Given the description of an element on the screen output the (x, y) to click on. 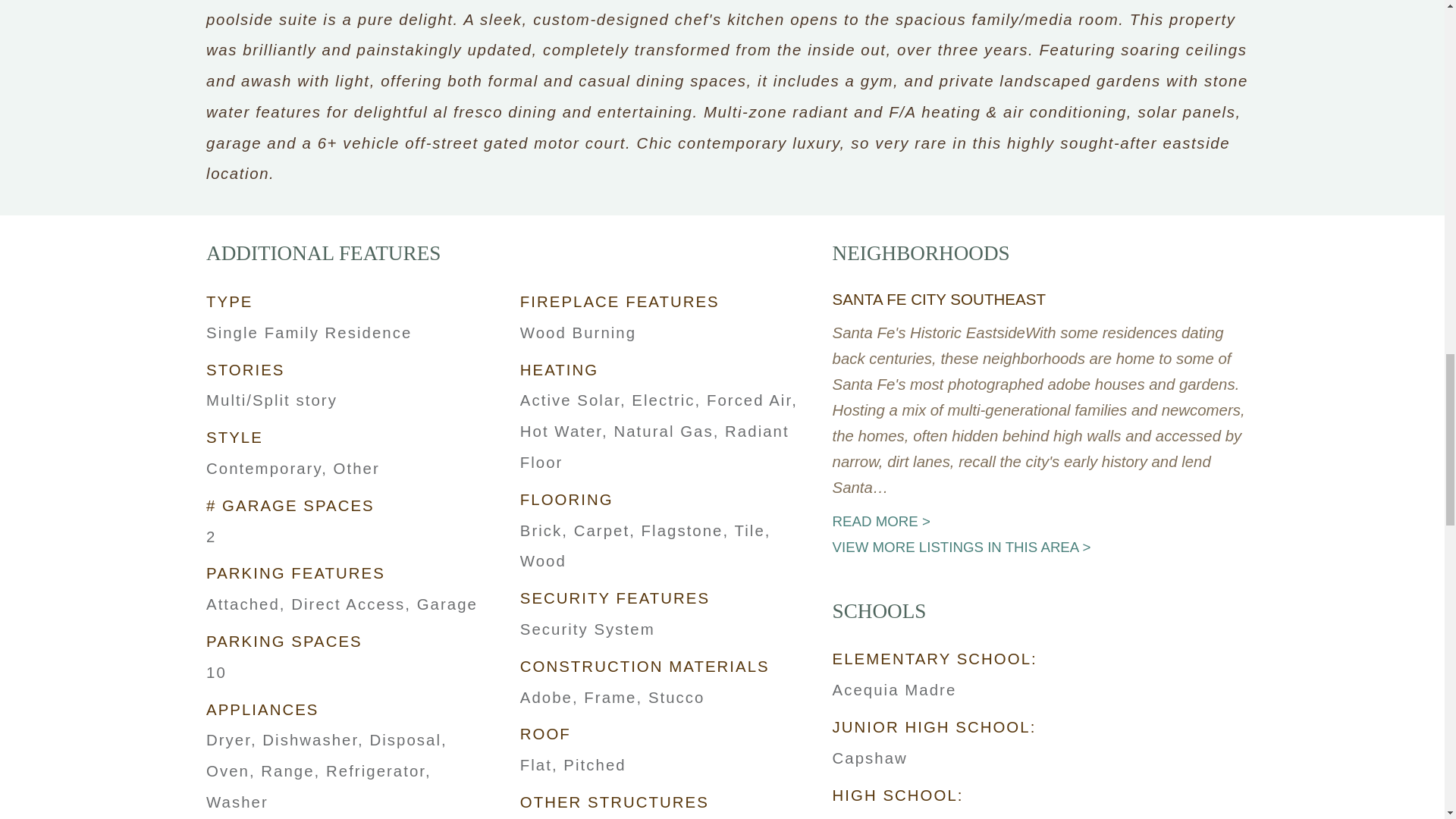
Permanent Link to Santa Fe City Southeast (938, 298)
